Given the description of an element on the screen output the (x, y) to click on. 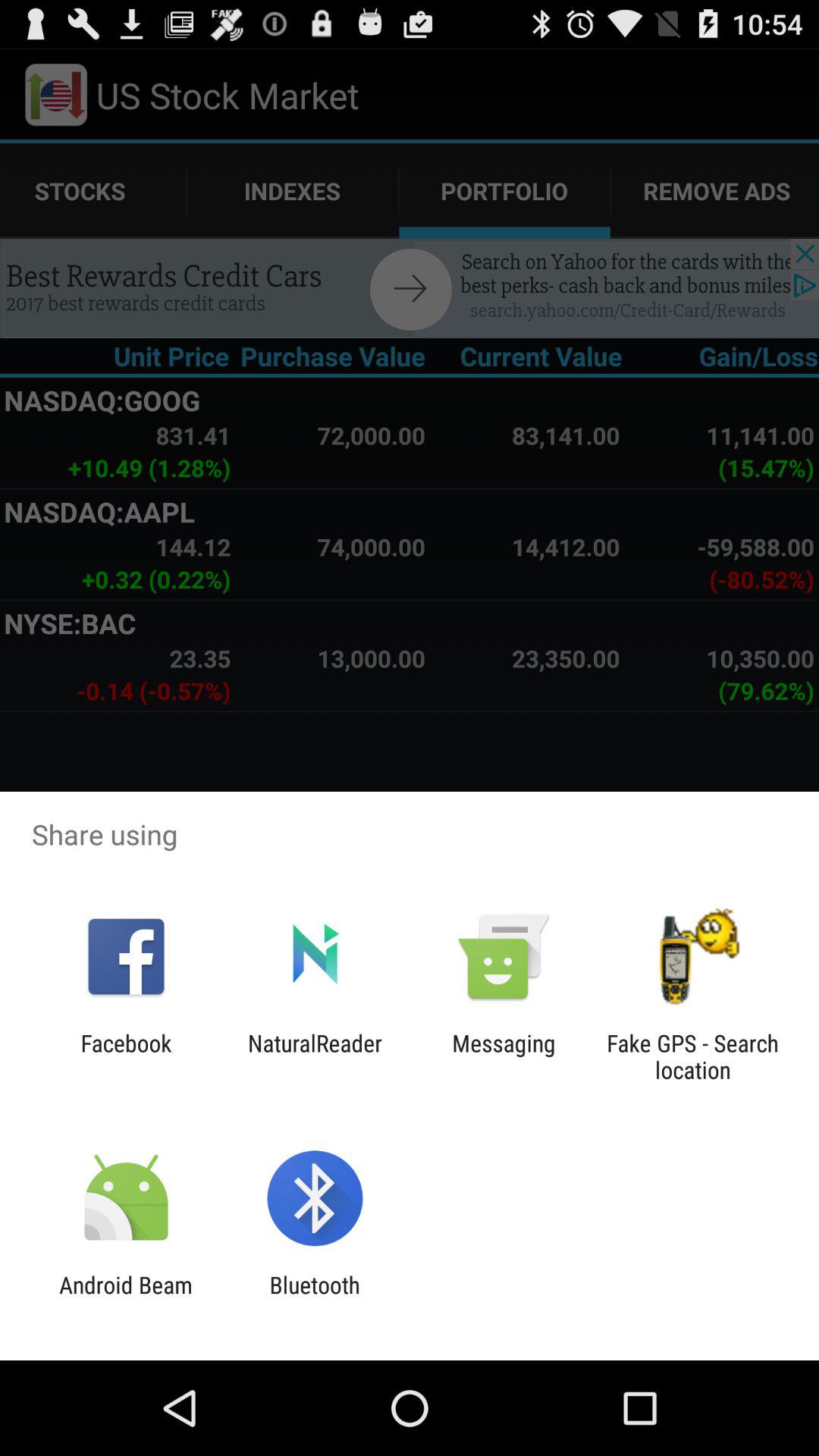
swipe to android beam app (125, 1298)
